Given the description of an element on the screen output the (x, y) to click on. 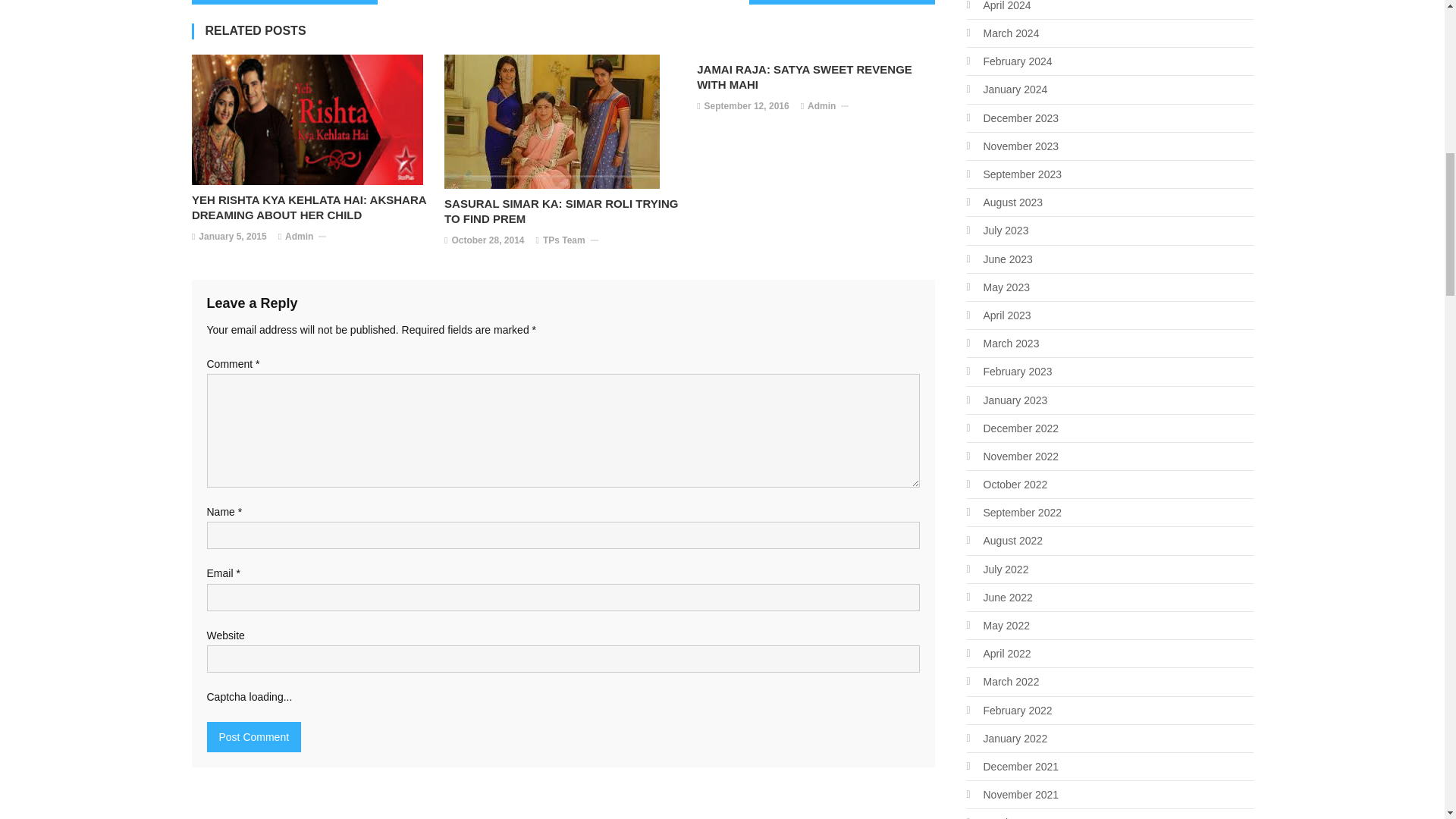
JAMAI RAJA: SATYA SWEET REVENGE WITH MAHI (815, 77)
Admin (299, 237)
TPs Team (564, 240)
September 12, 2016 (746, 106)
SASURAL SIMAR KA: SIMAR ROLI TRYING TO FIND PREM (562, 211)
October 28, 2014 (487, 240)
ITTI SI KHUSHI: CELEBRATION TIME FOR AMAN AND NEHA (283, 2)
Post Comment (253, 736)
January 5, 2015 (232, 237)
YEH RISHTA KYA KEHLATA HAI: AKSHARA DREAMING ABOUT HER CHILD (310, 207)
